Given the description of an element on the screen output the (x, y) to click on. 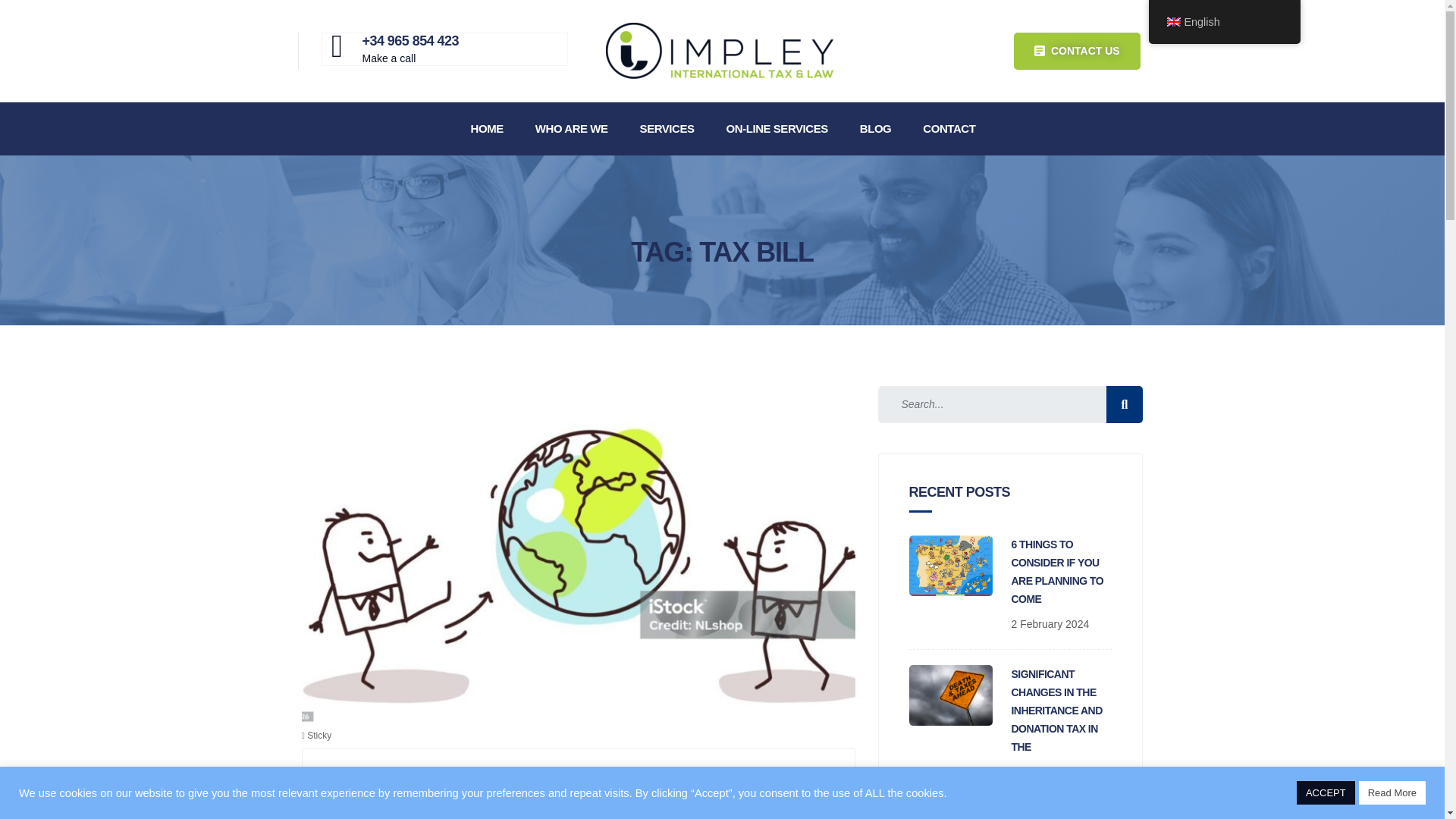
English (1172, 21)
BLOG (875, 128)
WHO ARE WE (570, 128)
ON-LINE SERVICES (776, 128)
HOME (486, 128)
DOUBLE TAXATION AGREEMENT (1058, 817)
SERVICES (666, 128)
IRPF (481, 788)
CONTACT (947, 128)
6 THINGS TO CONSIDER IF YOU ARE PLANNING TO COME (1057, 571)
Taxes (513, 788)
DOUBLE TAXATION AGREEMENT (541, 816)
